Given the description of an element on the screen output the (x, y) to click on. 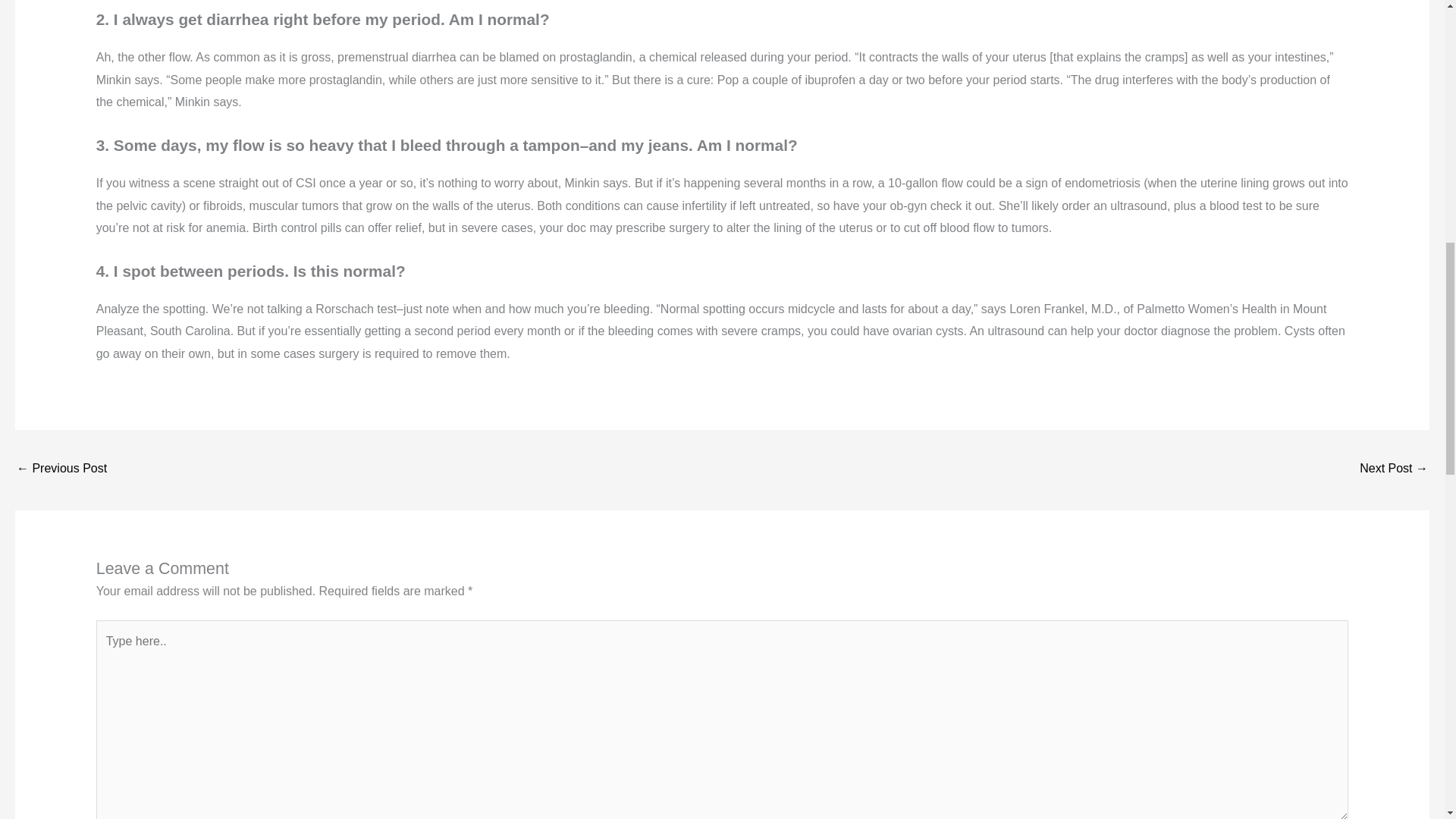
Decode Your Stomach Problems (1393, 469)
7 Ways Your Thyroid Is Messing With Your Body (61, 469)
